Given the description of an element on the screen output the (x, y) to click on. 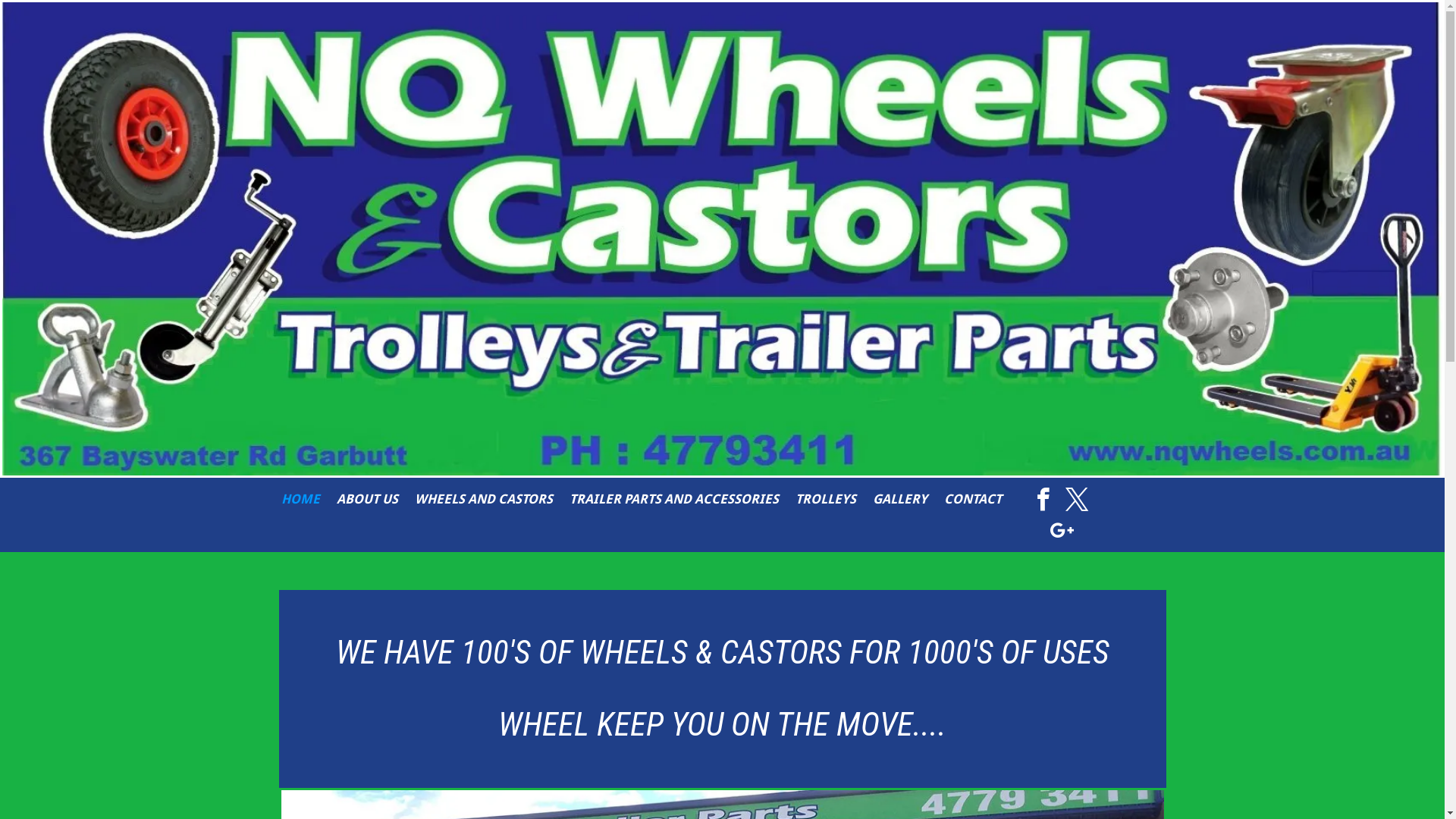
ABOUT US Element type: text (367, 498)
TRAILER PARTS AND ACCESSORIES Element type: text (673, 498)
HOME Element type: text (300, 498)
Nq wheels logo1 Element type: hover (722, 238)
WHEELS AND CASTORS Element type: text (483, 498)
TROLLEYS Element type: text (825, 498)
GALLERY Element type: text (899, 498)
CONTACT Element type: text (972, 498)
